Given the description of an element on the screen output the (x, y) to click on. 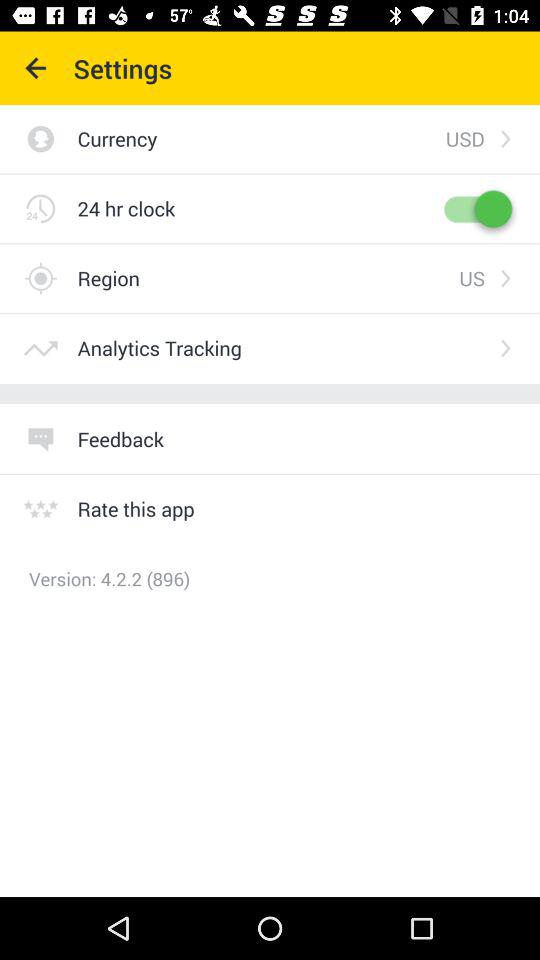
jump to the feedback icon (120, 438)
